Given the description of an element on the screen output the (x, y) to click on. 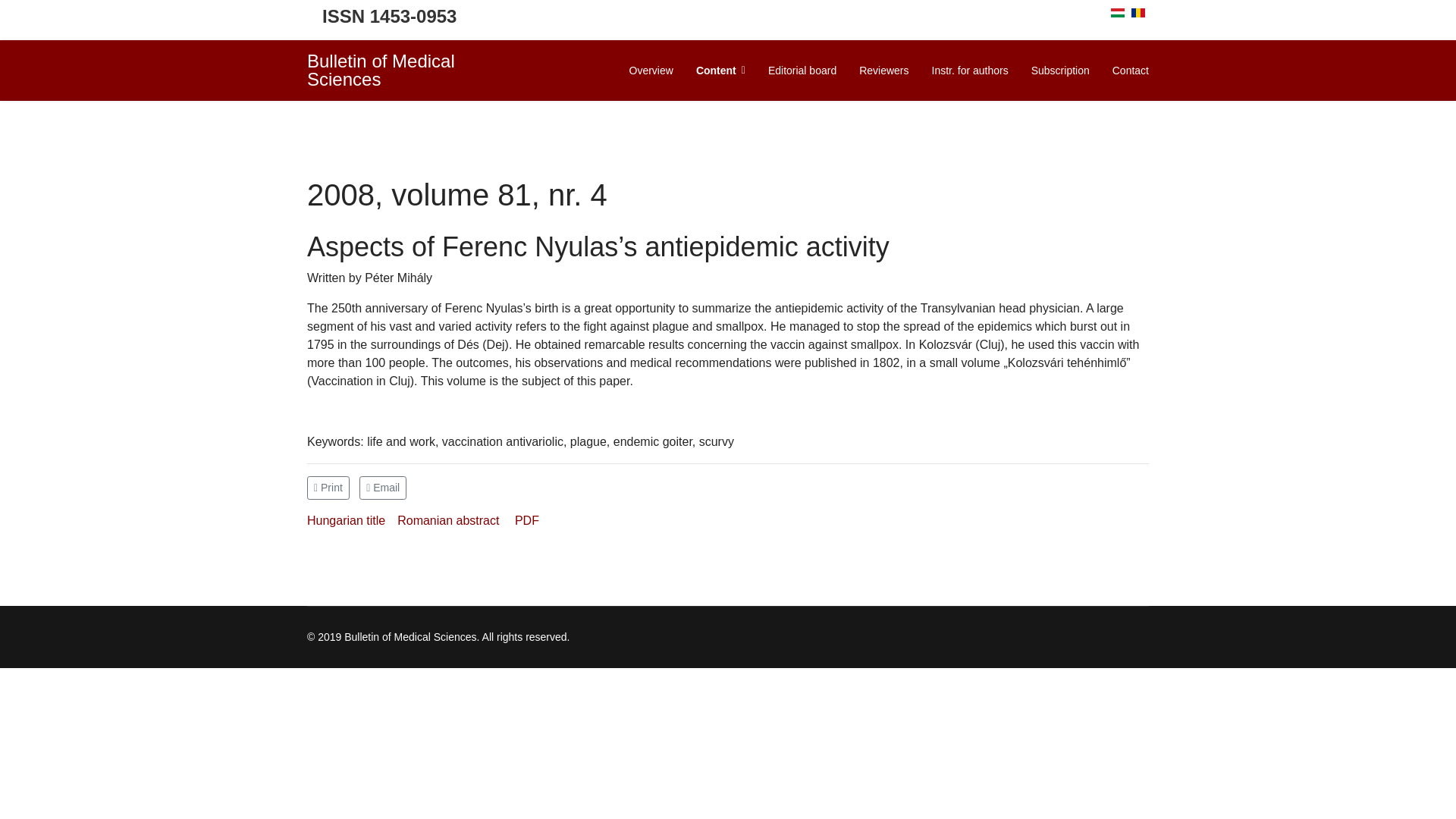
Bulletin of Medical Sciences (403, 70)
Overview (650, 70)
Magyar (1117, 12)
Content (720, 70)
Email this link to a friend (382, 486)
